Given the description of an element on the screen output the (x, y) to click on. 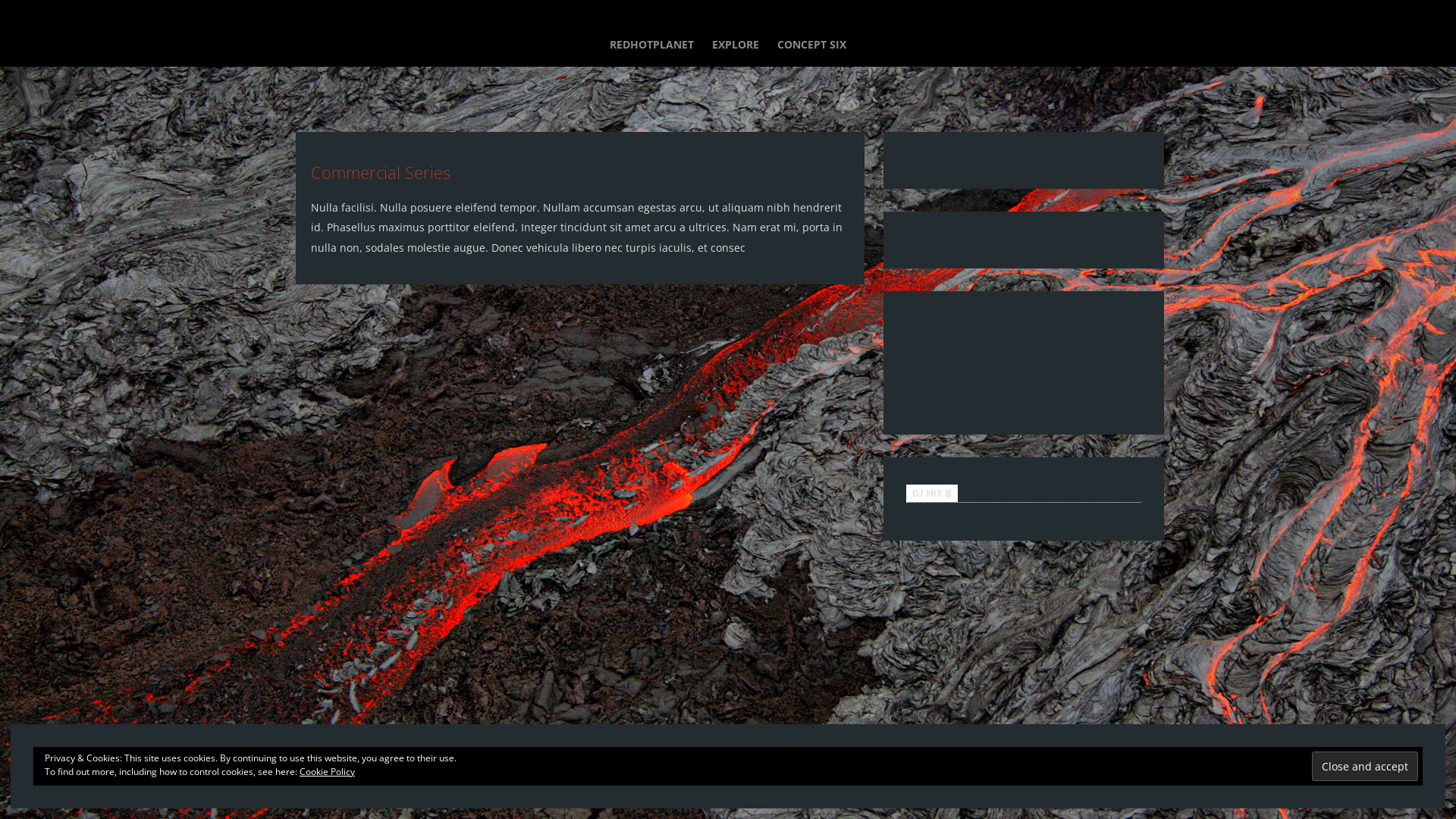
EXPLORE Element type: text (735, 44)
Cookie Policy Element type: text (326, 771)
CONCEPT SIX Element type: text (811, 44)
F1rstpers0n - Liquid Rinse 03 (Sep 2022): 3rd September 2022 Element type: hover (1023, 358)
REDHOTPLANET Element type: text (651, 44)
Close and accept Element type: text (1364, 766)
